Given the description of an element on the screen output the (x, y) to click on. 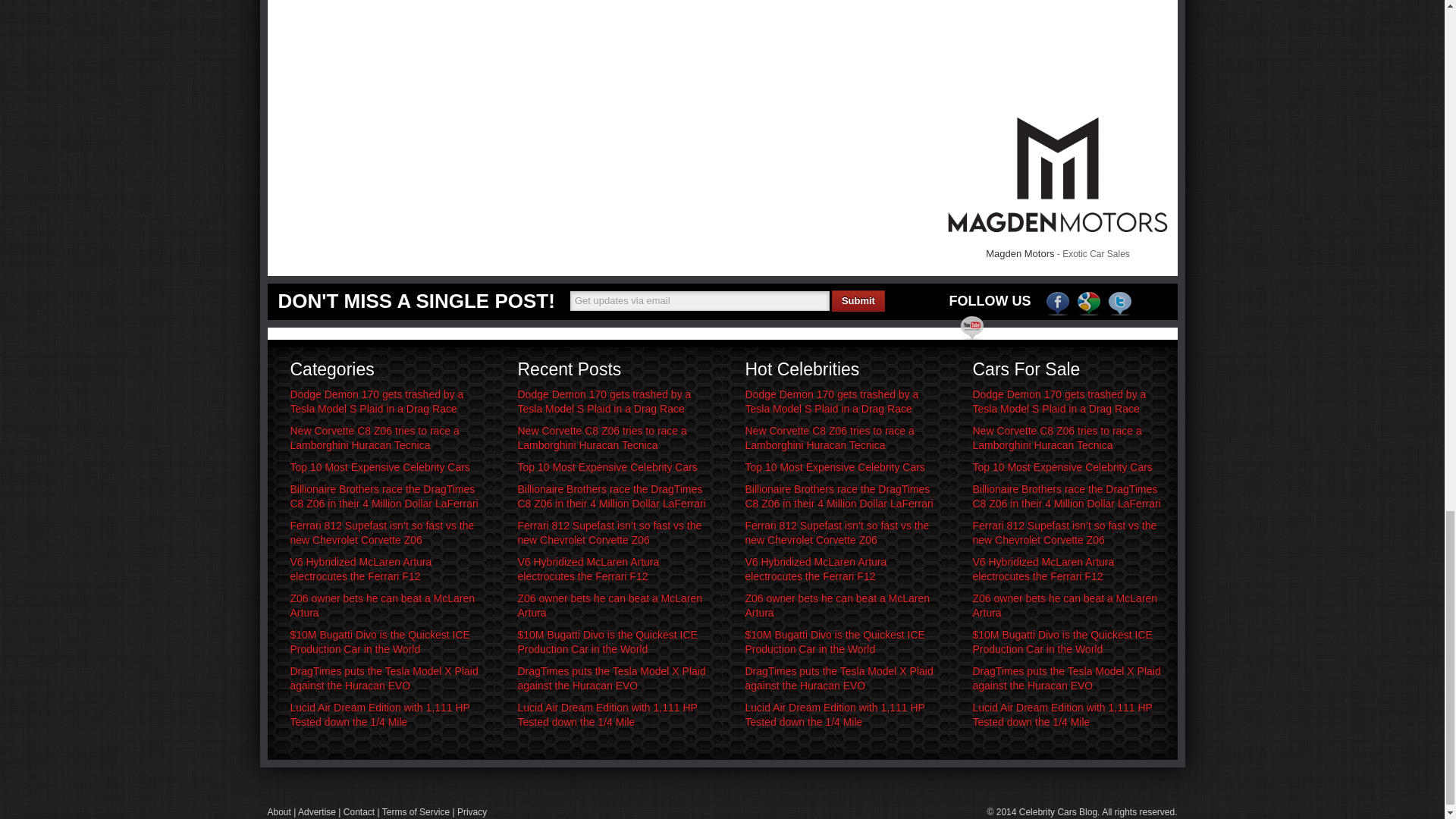
Advertisement (1021, 39)
Submit (858, 301)
Get updates via email (699, 301)
